Given the description of an element on the screen output the (x, y) to click on. 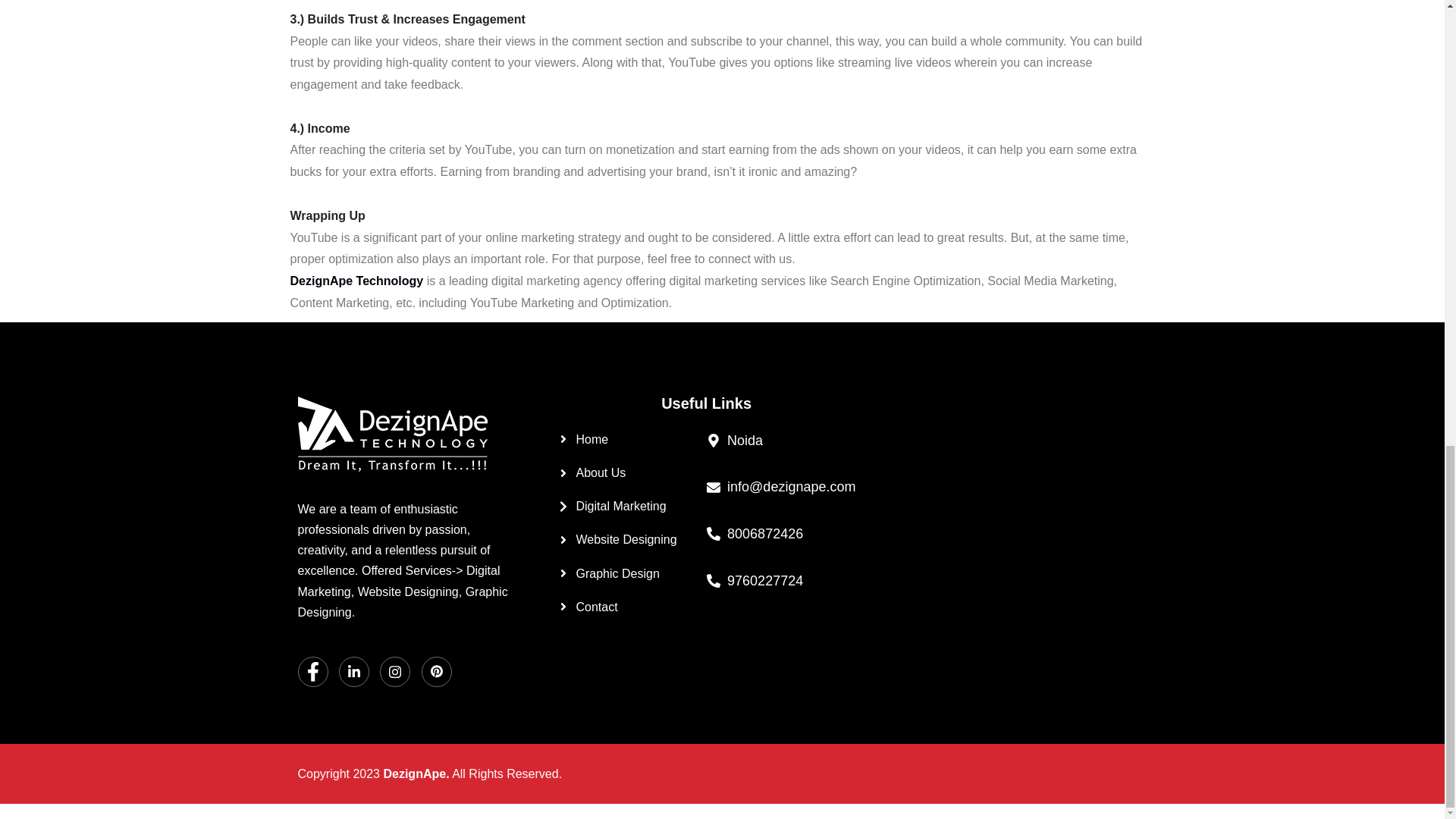
Digital Marketing (631, 506)
DezignApe Technology (356, 280)
About Us (631, 472)
Graphic Design (631, 573)
Contact (631, 607)
Website Designing (631, 539)
Home (631, 439)
